Given the description of an element on the screen output the (x, y) to click on. 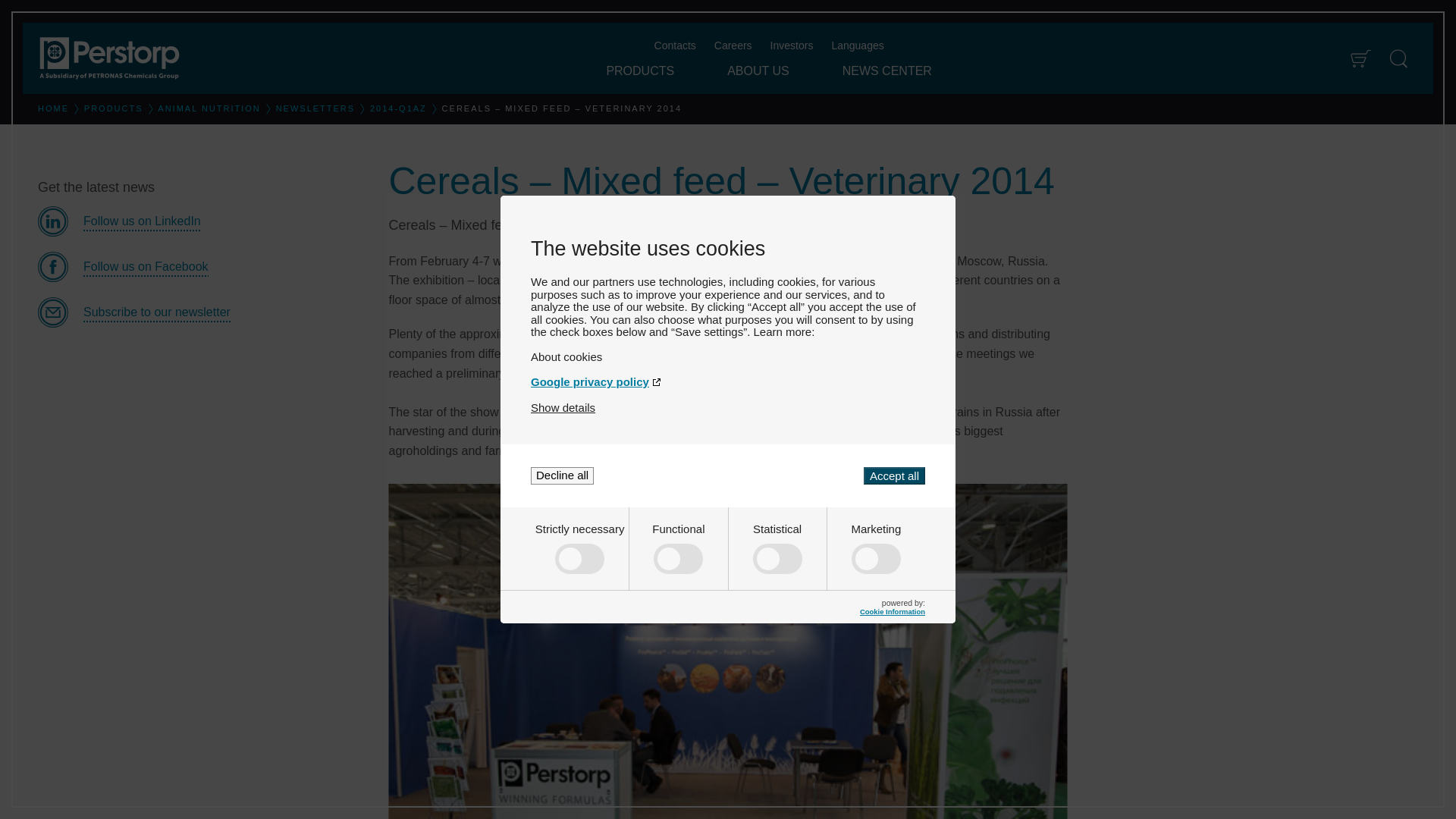
Decline all (562, 475)
Facebook (201, 266)
About cookies (727, 356)
Accept all (893, 475)
LinkedIn (201, 221)
Show details (563, 407)
Google privacy policy (727, 381)
Cookie Information (892, 611)
